Given the description of an element on the screen output the (x, y) to click on. 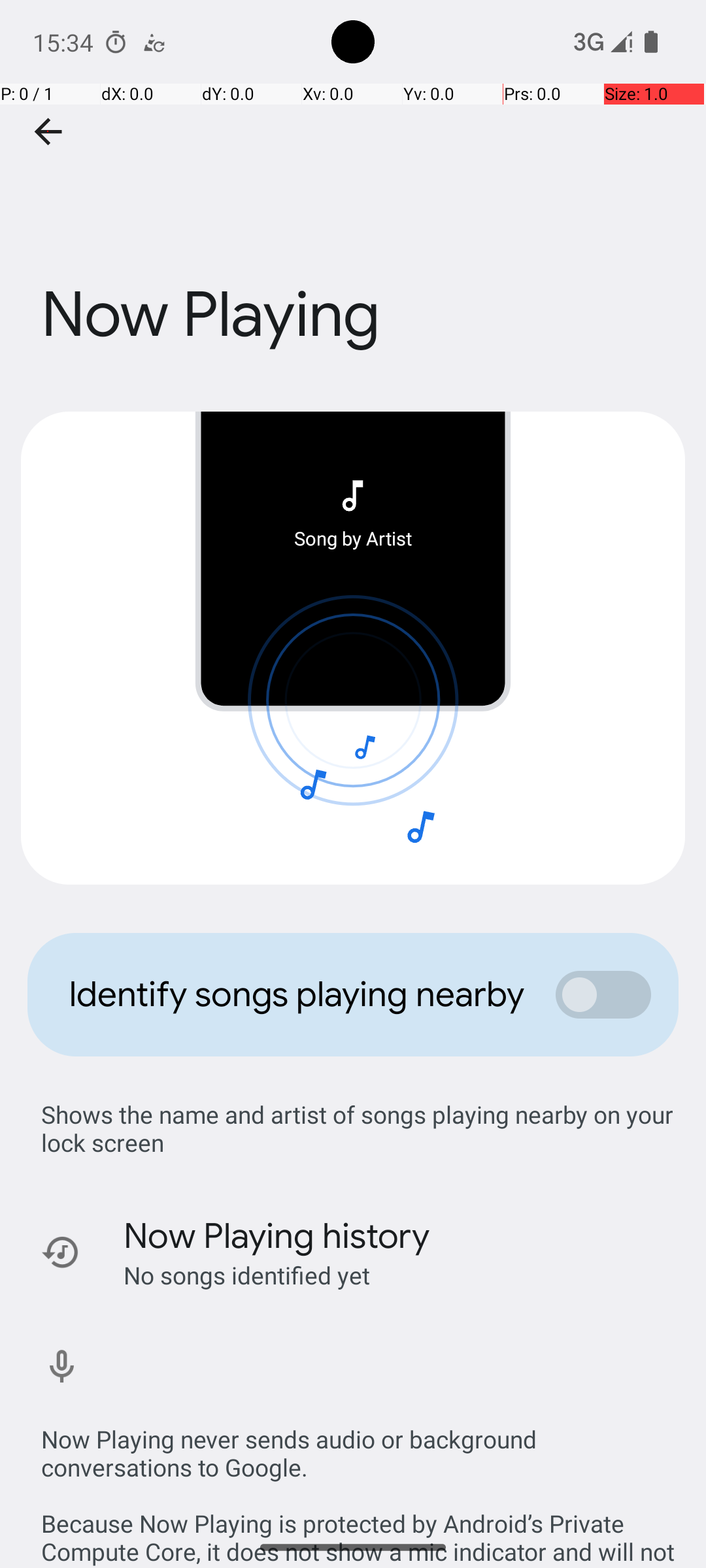
Shows the name and artist of songs playing nearby on your lock screen Element type: android.widget.TextView (359, 1128)
Now Playing history Element type: android.widget.TextView (276, 1235)
No songs identified yet Element type: android.widget.TextView (246, 1274)
Now Playing never sends audio or background conversations to Google.

Because Now Playing is protected by Android’s Private Compute Core, it does not show a mic indicator and will not appear on your Privacy dashboard. Element type: android.widget.TextView (359, 1481)
